Given the description of an element on the screen output the (x, y) to click on. 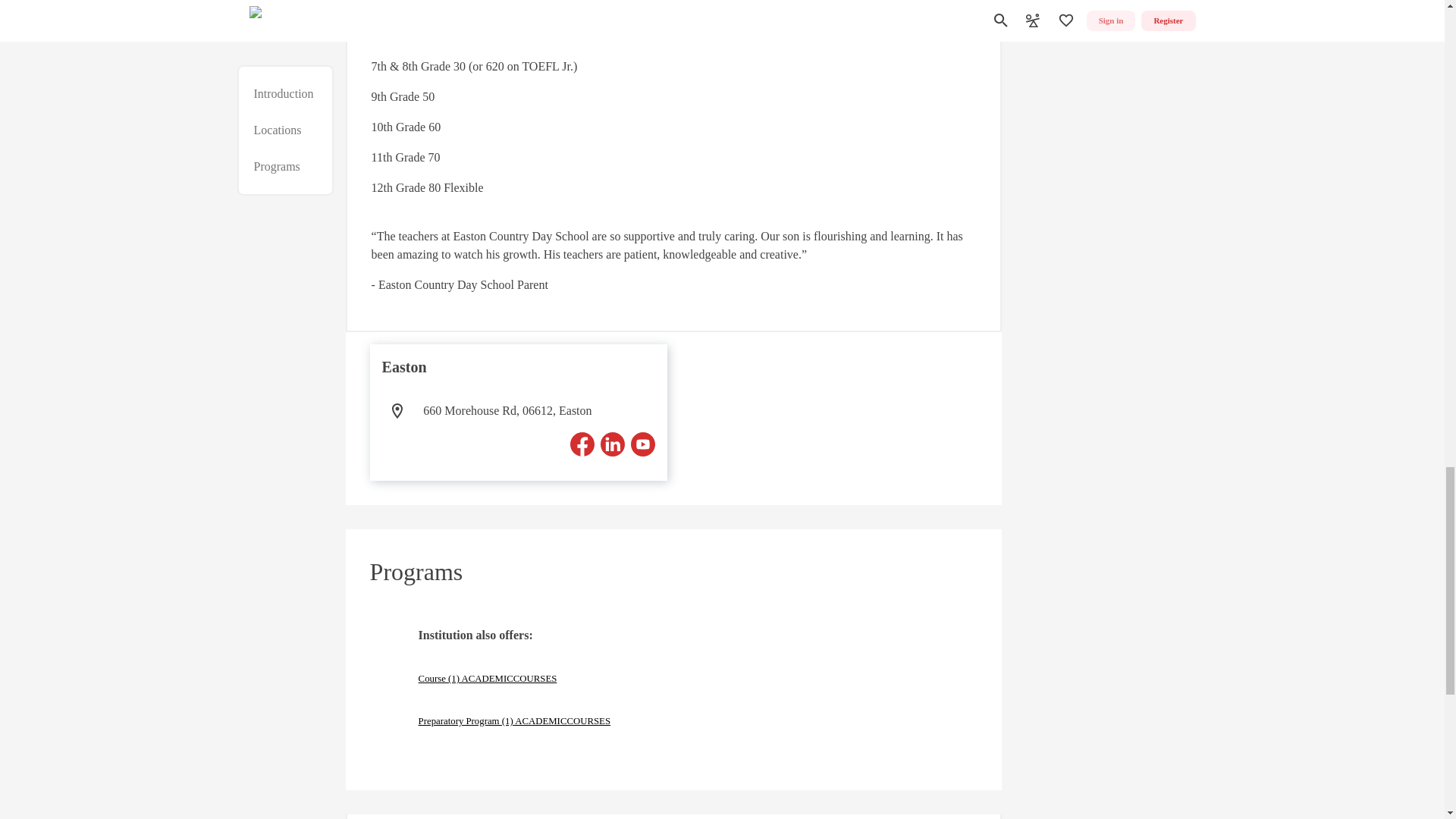
youtube (642, 444)
linkedin (611, 444)
facebook (582, 444)
